Given the description of an element on the screen output the (x, y) to click on. 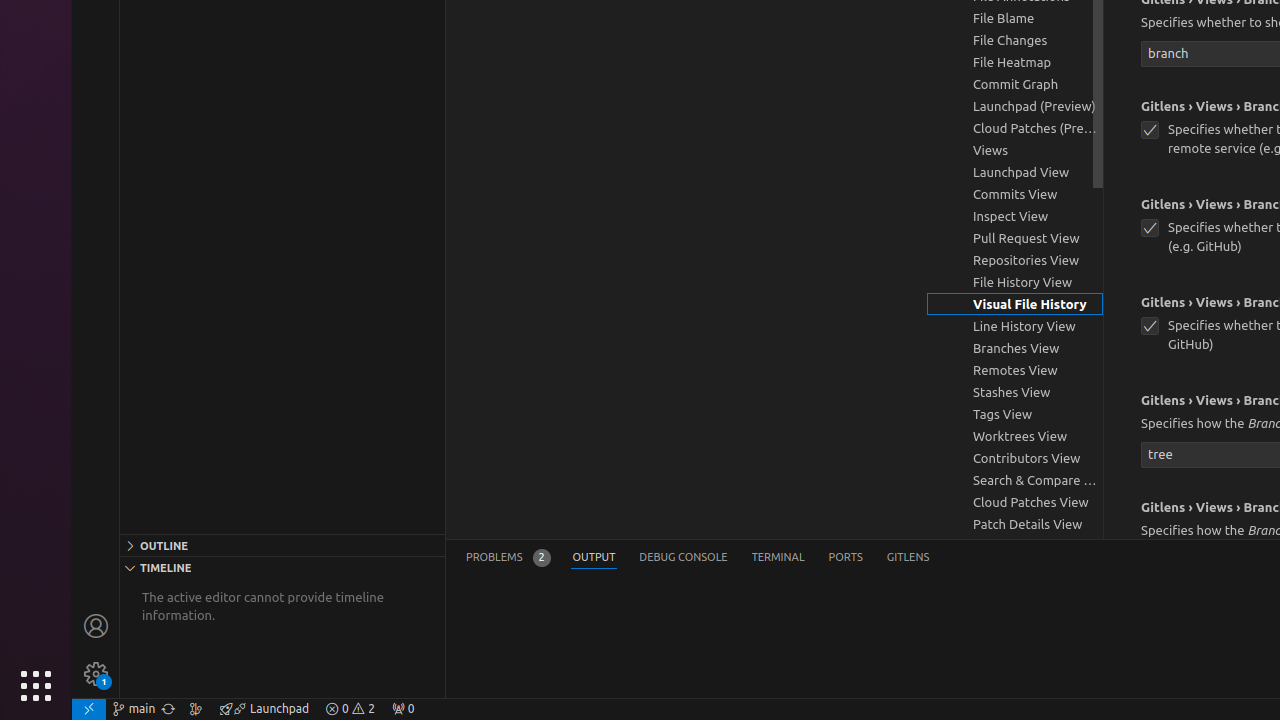
Patch Details View, group Element type: tree-item (1015, 524)
Accounts Element type: push-button (96, 626)
Search & Compare View, group Element type: tree-item (1015, 480)
File History View, group Element type: tree-item (1015, 282)
Commits View, group Element type: tree-item (1015, 194)
